Given the description of an element on the screen output the (x, y) to click on. 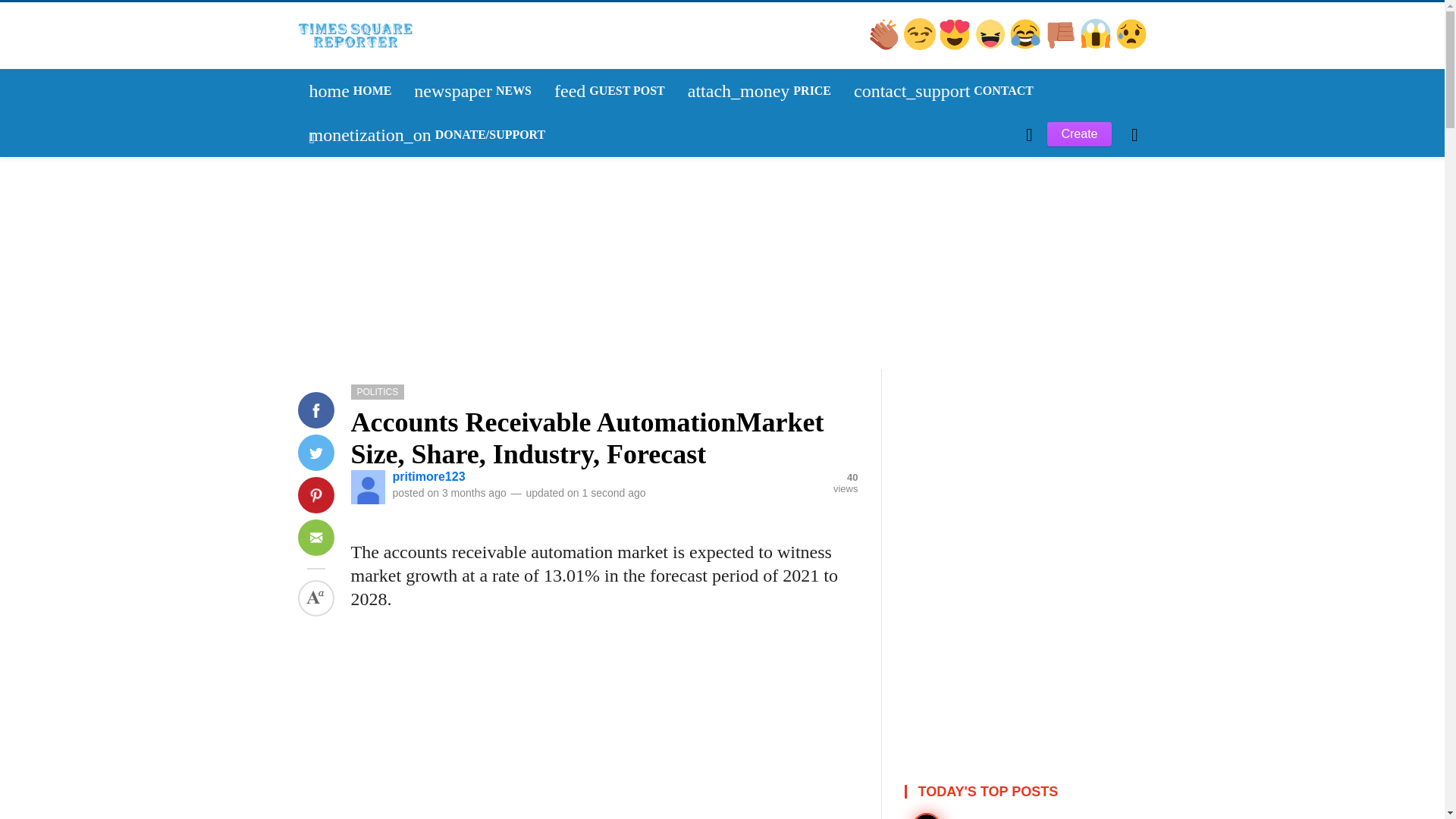
EW! (610, 90)
FUNNY (333, 293)
sign up (473, 90)
NICE (350, 90)
LOVED (1026, 45)
OMG! (331, 292)
Log in (921, 45)
FAIL! (956, 45)
LOL (1097, 45)
AWESOME! (329, 292)
AWESOME! (1062, 45)
EW! (991, 45)
